Given the description of an element on the screen output the (x, y) to click on. 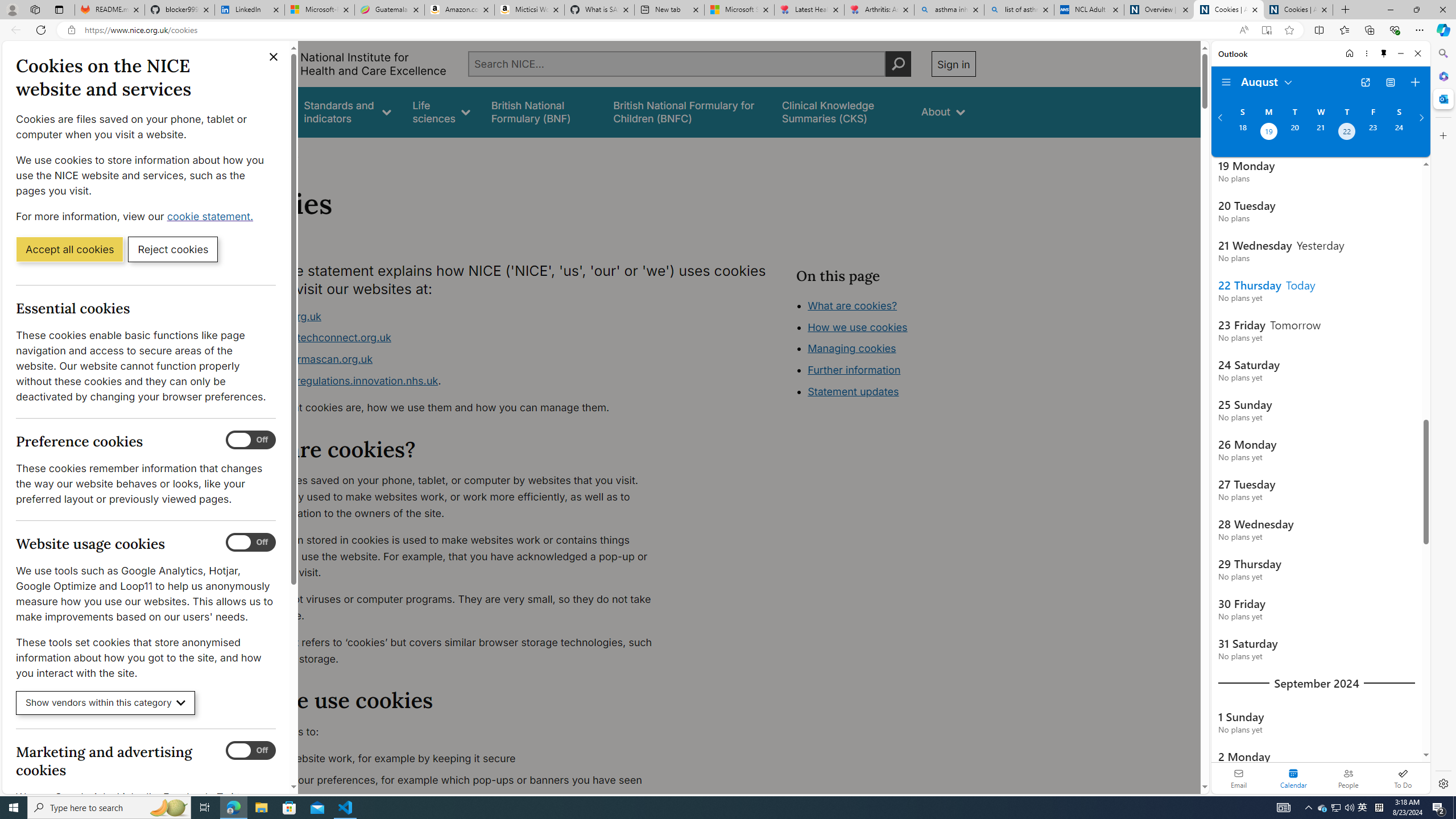
LinkedIn (249, 9)
list of asthma inhalers uk - Search (1018, 9)
make our website work, for example by keeping it secure (452, 759)
Tuesday, August 20, 2024.  (1294, 132)
Website usage cookies (250, 542)
false (841, 111)
What are cookies? (852, 305)
